Given the description of an element on the screen output the (x, y) to click on. 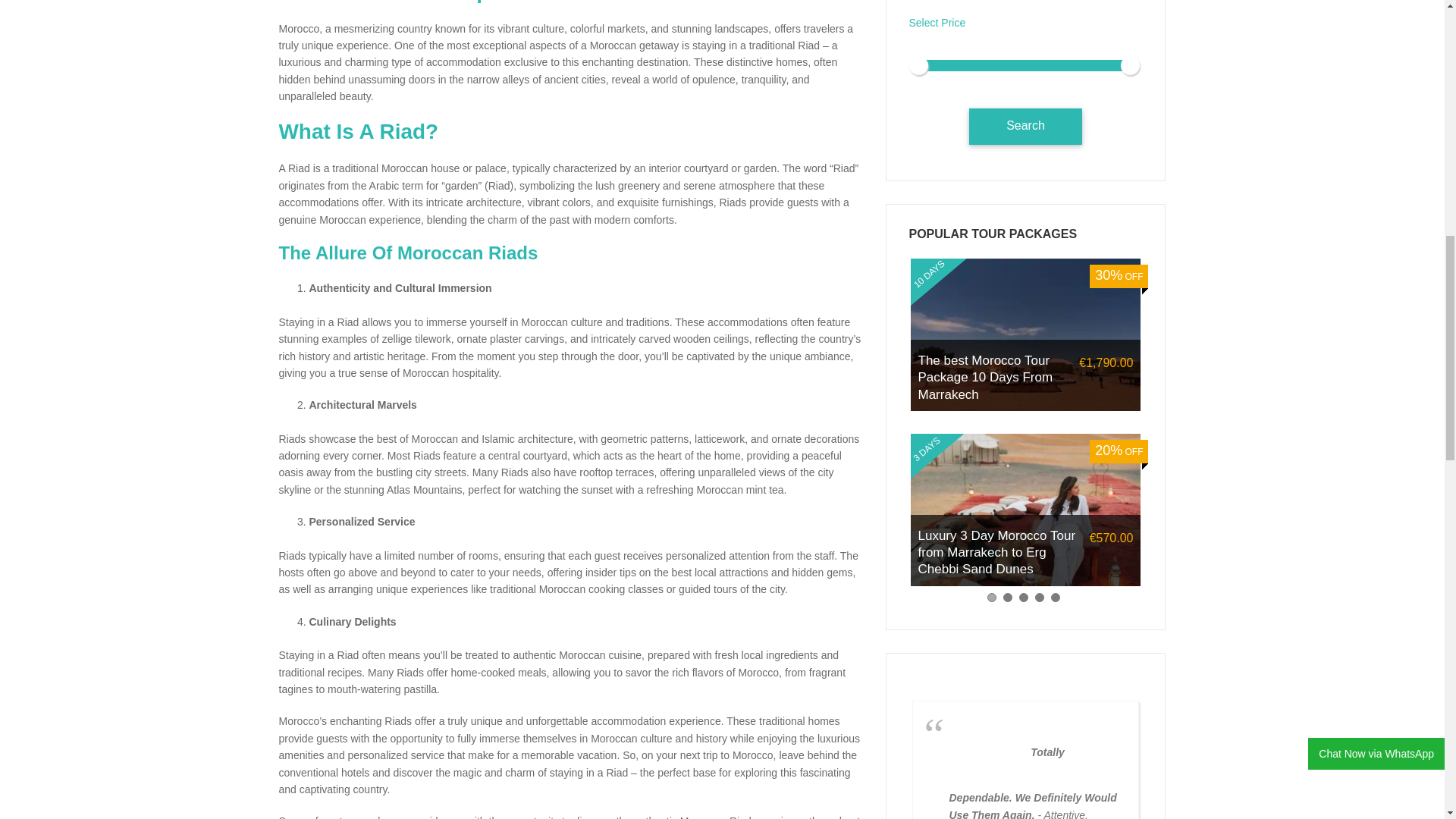
Search (1025, 126)
